Given the description of an element on the screen output the (x, y) to click on. 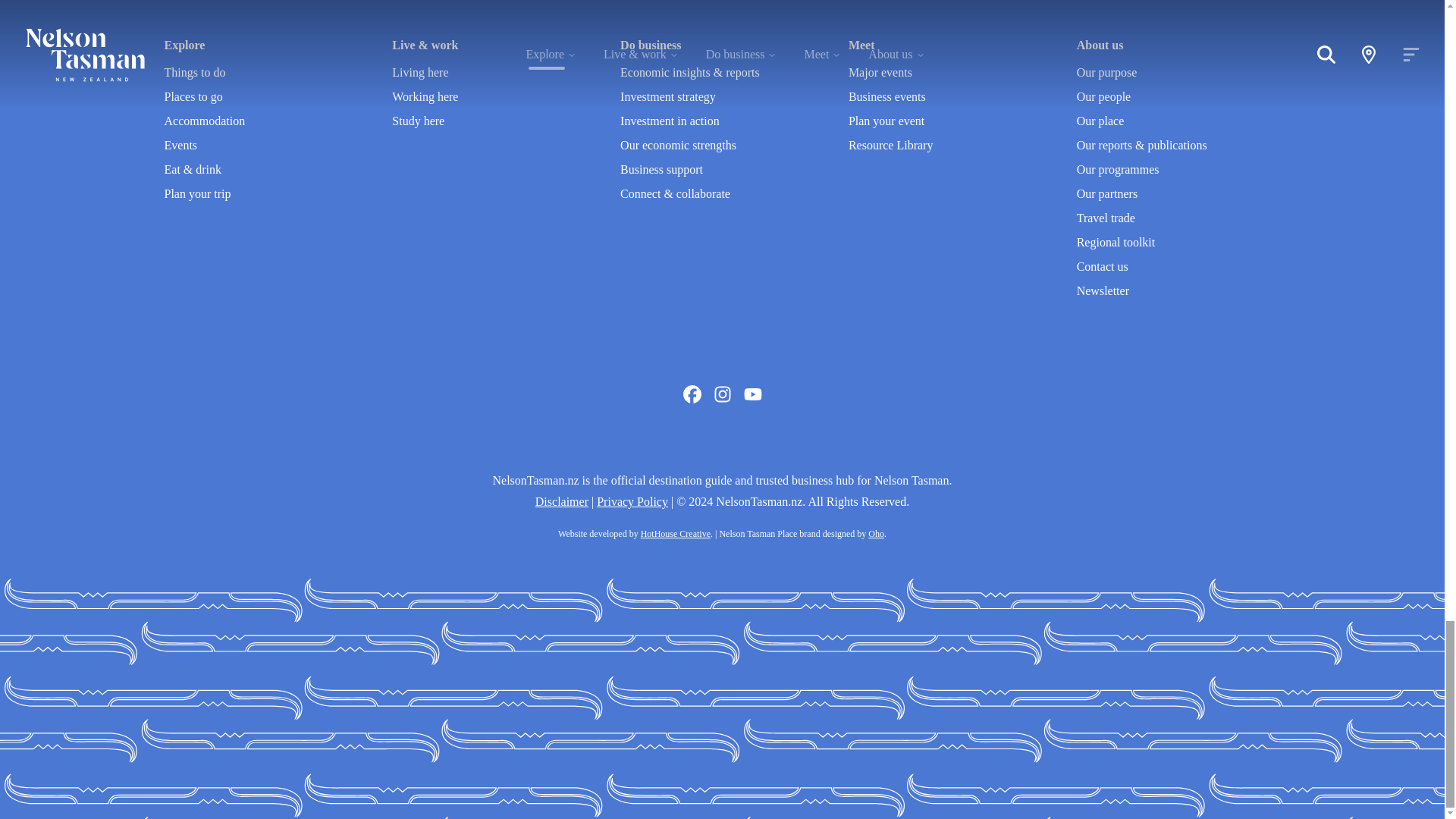
Events (179, 144)
Explore (184, 44)
Things to do (194, 72)
Accommodation (203, 120)
Places to go (192, 96)
